Given the description of an element on the screen output the (x, y) to click on. 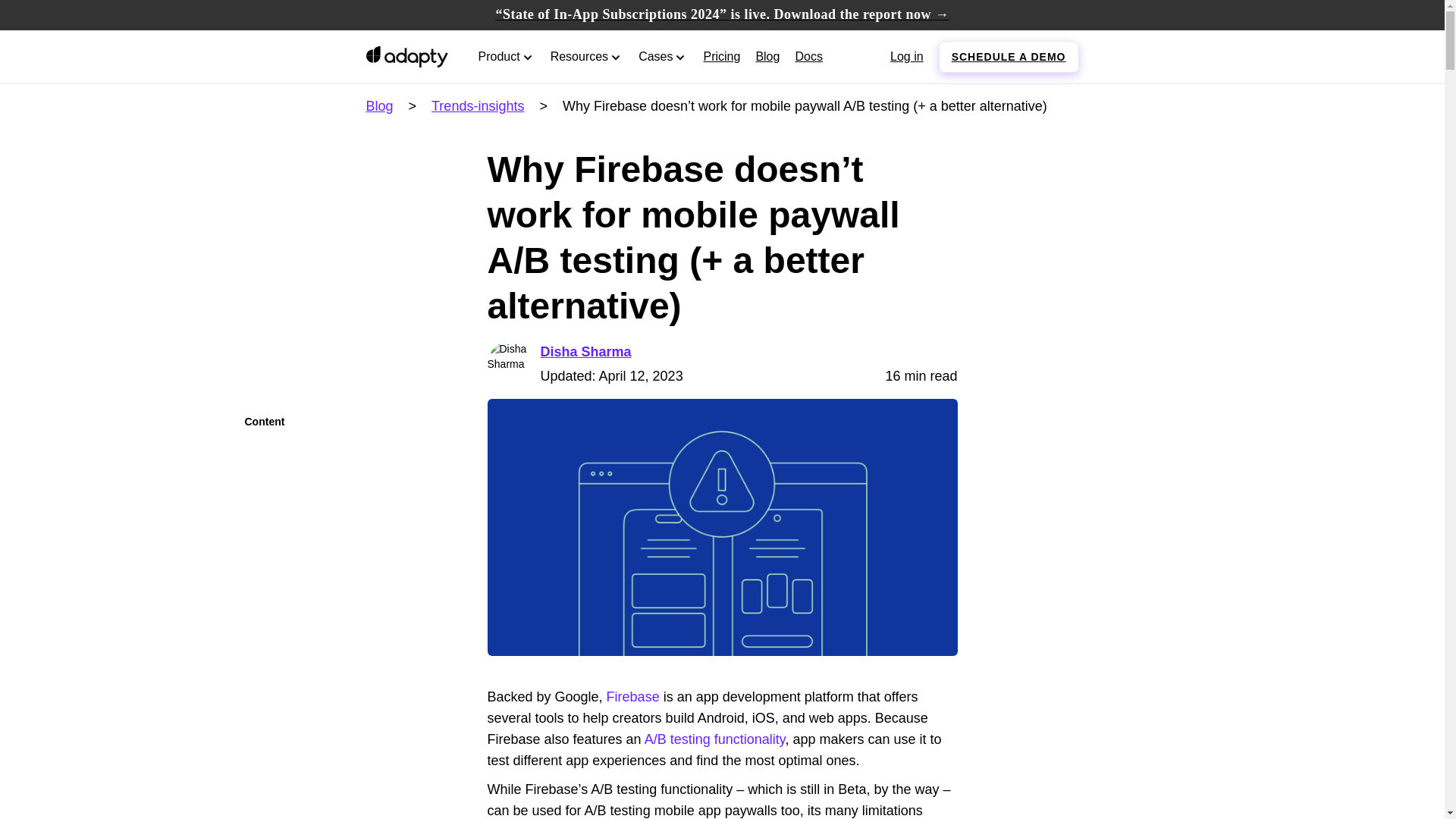
Posts by Disha Sharma (585, 351)
